Given the description of an element on the screen output the (x, y) to click on. 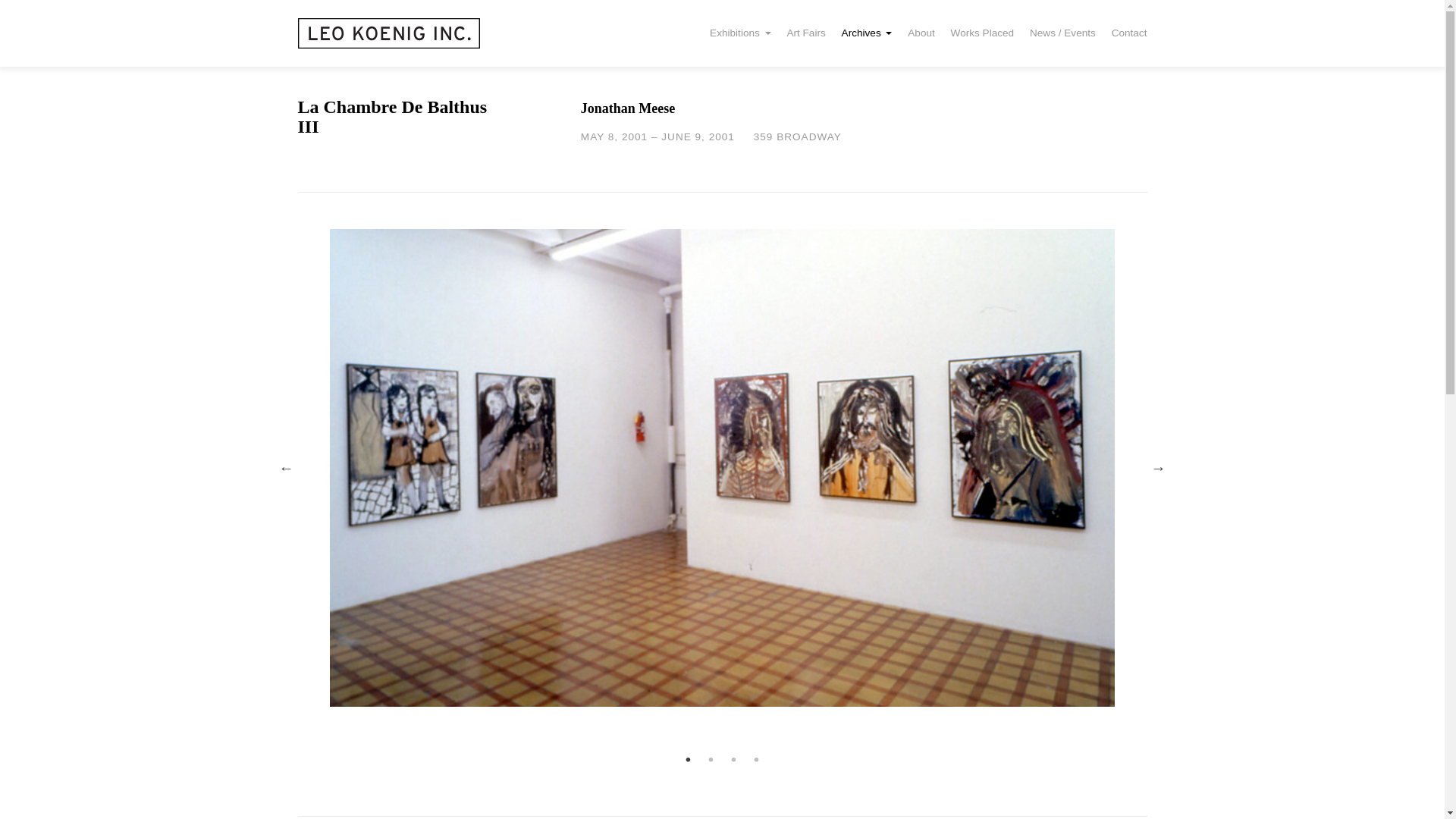
Previous (286, 467)
Archives (865, 32)
Contact (1125, 32)
2 (711, 759)
LEO KOENIG INC. (388, 33)
Works Placed (982, 32)
Art Fairs (805, 32)
4 (756, 759)
Archives (865, 32)
About (920, 32)
Exhibitions (739, 32)
3 (733, 759)
Works Placed (982, 32)
About (920, 32)
Exhibitions (739, 32)
